Given the description of an element on the screen output the (x, y) to click on. 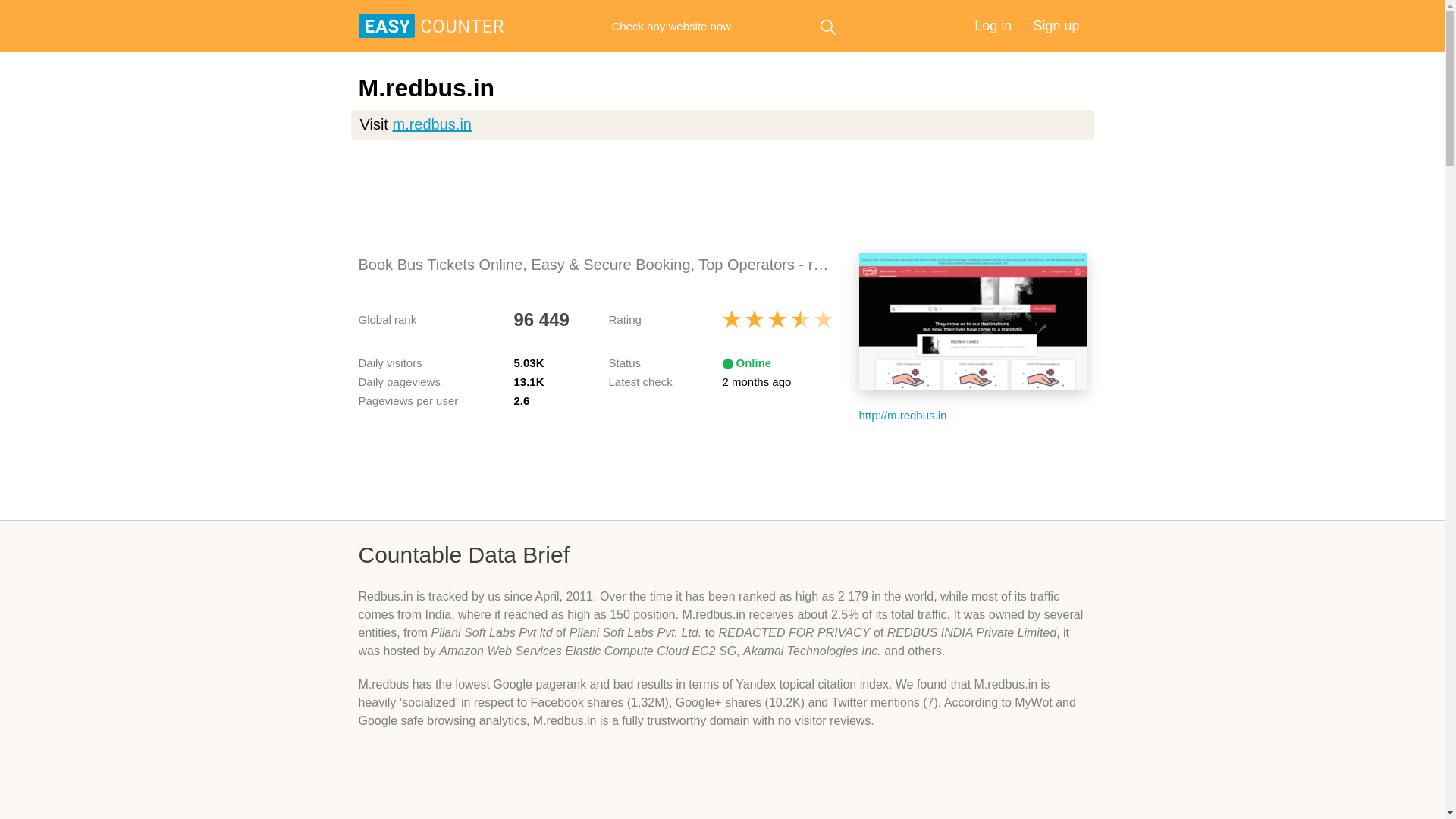
Sign up (1056, 25)
Advertisement (722, 470)
M.redbus.in thumbnail (972, 321)
Log in (992, 25)
Advertisement (722, 196)
Advertisement (722, 785)
m.redbus.in (431, 124)
